Given the description of an element on the screen output the (x, y) to click on. 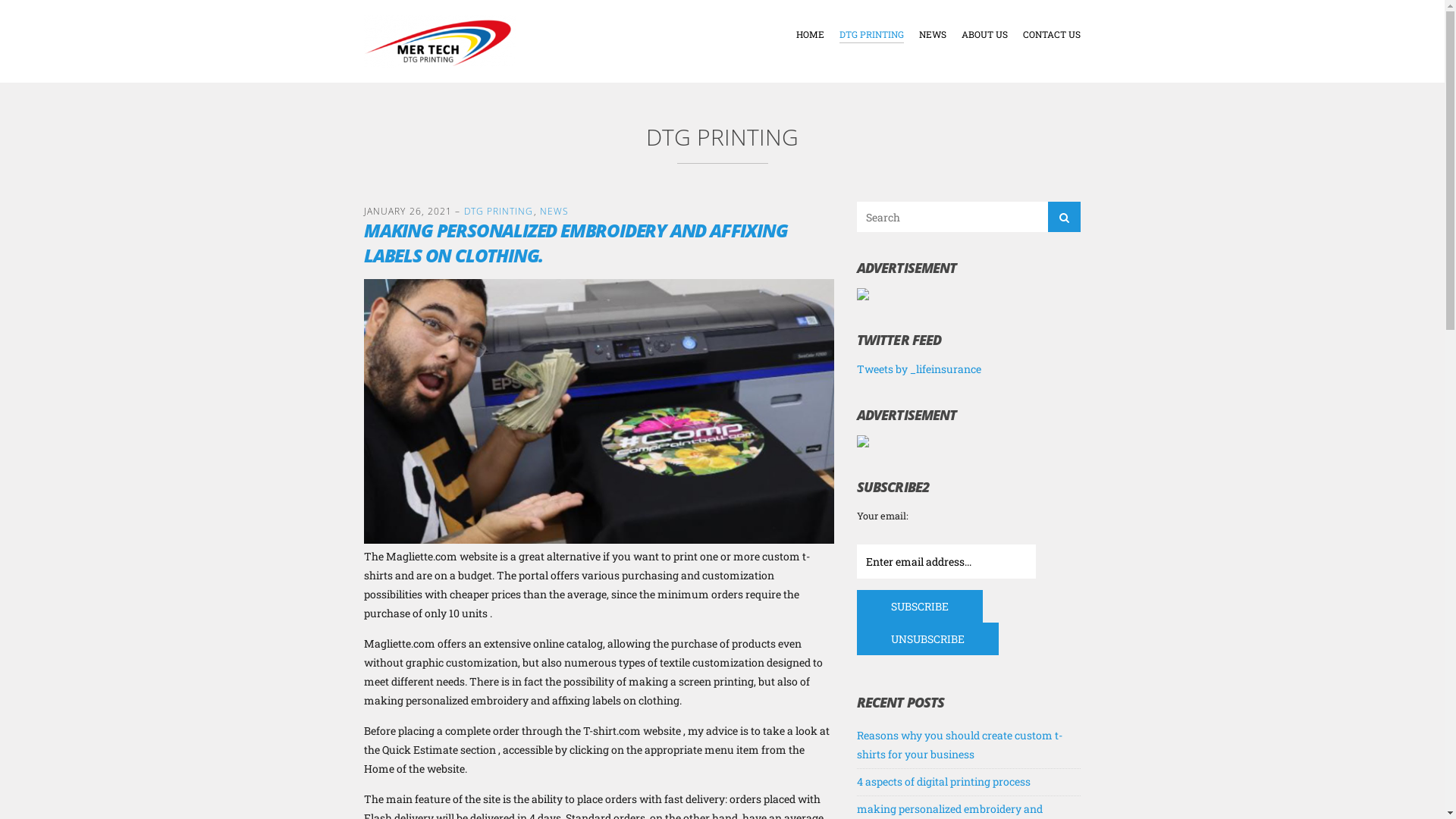
ABOUT US Element type: text (984, 34)
4 aspects of digital printing process Element type: text (943, 781)
Unsubscribe Element type: text (927, 638)
HOME Element type: text (810, 34)
DTG PRINTING Element type: text (498, 210)
DTG PRINTING Element type: text (871, 34)
NEWS Element type: text (553, 210)
Subscribe Element type: text (919, 605)
NEWS Element type: text (932, 34)
Tweets by _lifeinsurance Element type: text (918, 368)
CONTACT US Element type: text (1051, 34)
